Given the description of an element on the screen output the (x, y) to click on. 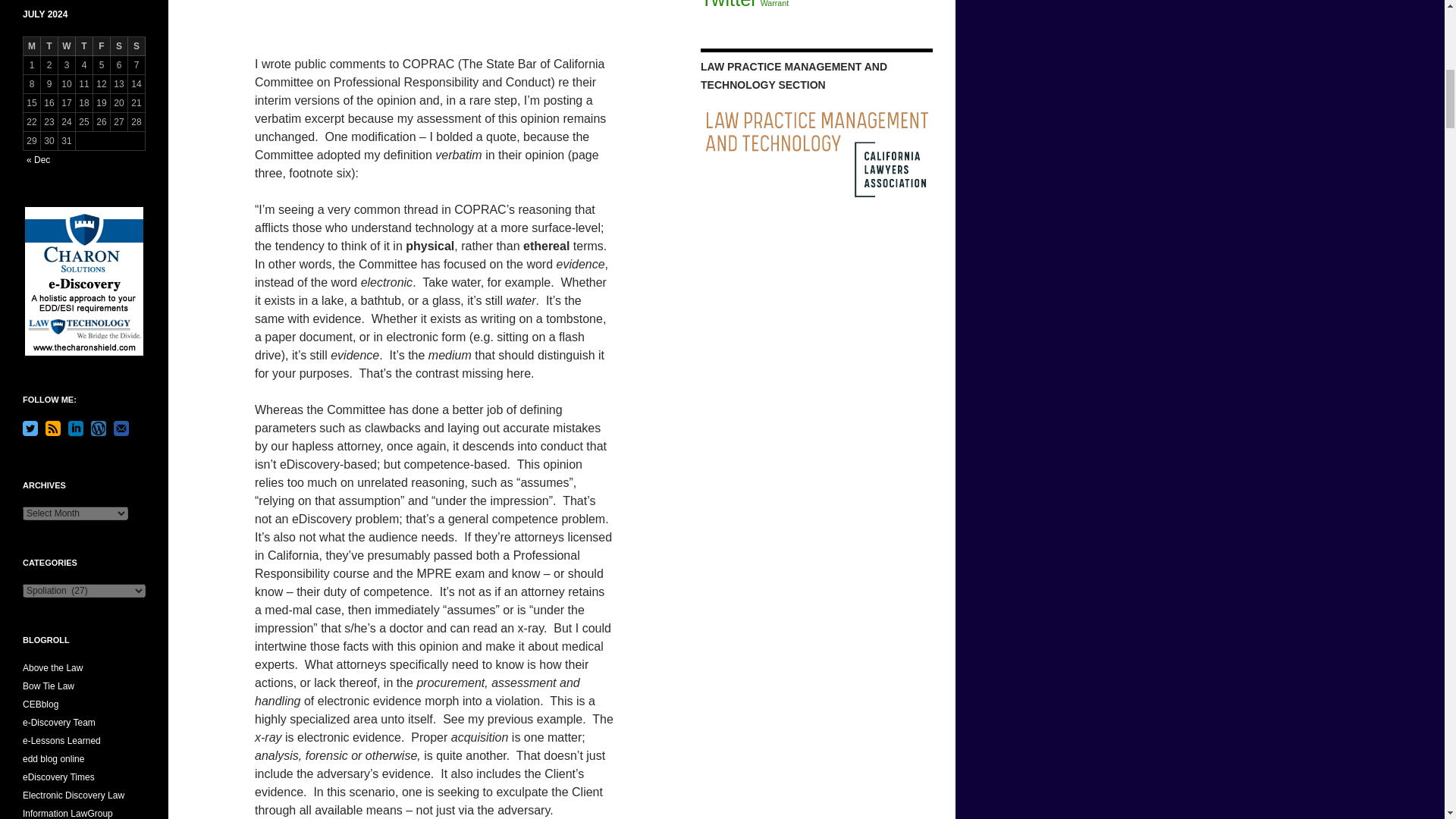
Saturday (119, 46)
Thursday (84, 46)
Monday (31, 46)
Tuesday (49, 46)
Wednesday (66, 46)
Friday (101, 46)
Sunday (136, 46)
